Given the description of an element on the screen output the (x, y) to click on. 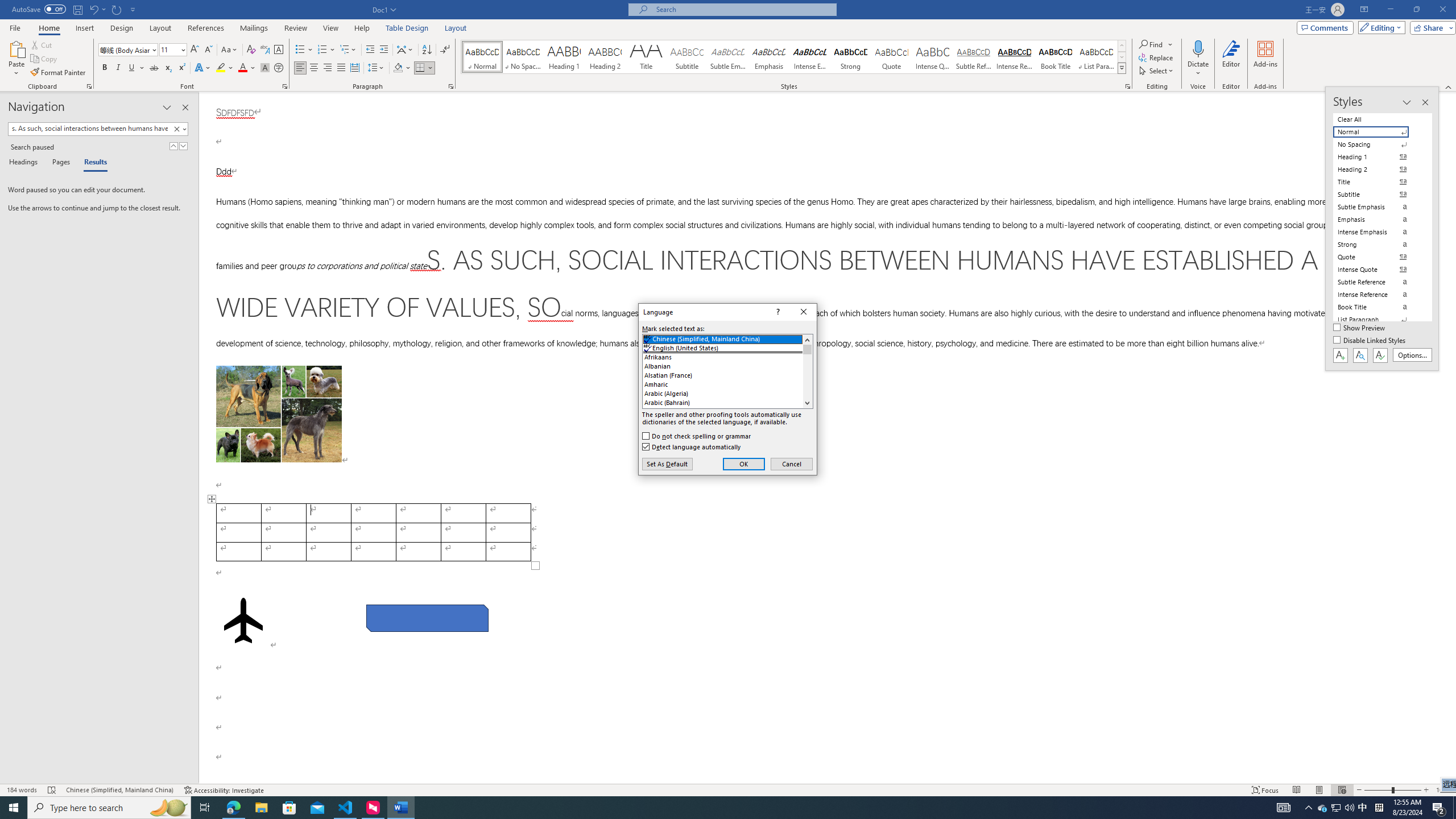
Undo Style (92, 9)
List Paragraph (1377, 319)
Word Count 184 words (22, 790)
Options... (1412, 354)
Class: NetUIButton (1380, 355)
No Spacing (1377, 144)
